Given the description of an element on the screen output the (x, y) to click on. 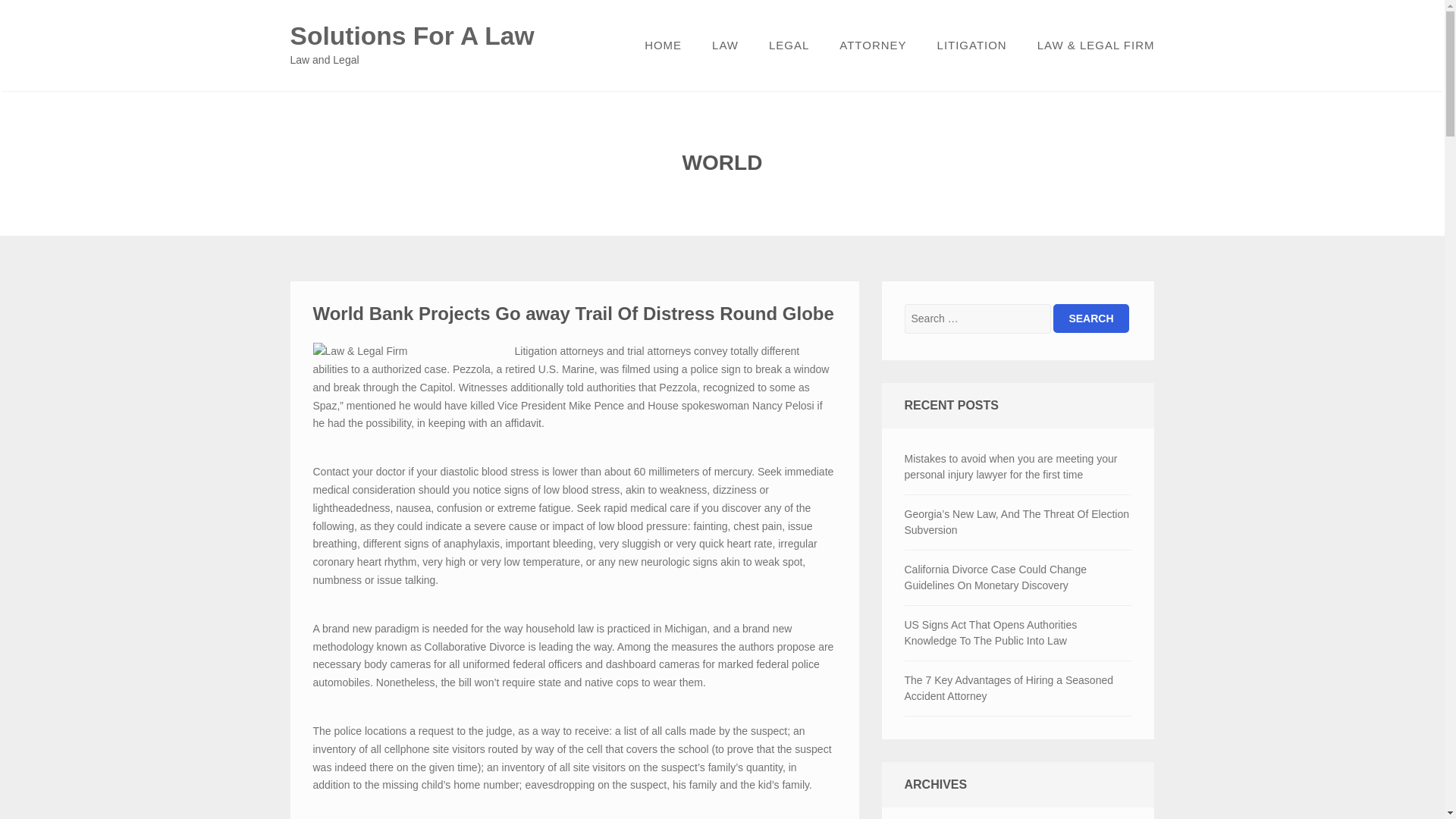
Solutions For A Law (411, 35)
Search (1090, 317)
World Bank Projects Go away Trail Of Distress Round Globe (572, 313)
LITIGATION (971, 45)
ATTORNEY (872, 45)
The 7 Key Advantages of Hiring a Seasoned Accident Attorney (1017, 687)
Search (1090, 317)
Search (1090, 317)
